Given the description of an element on the screen output the (x, y) to click on. 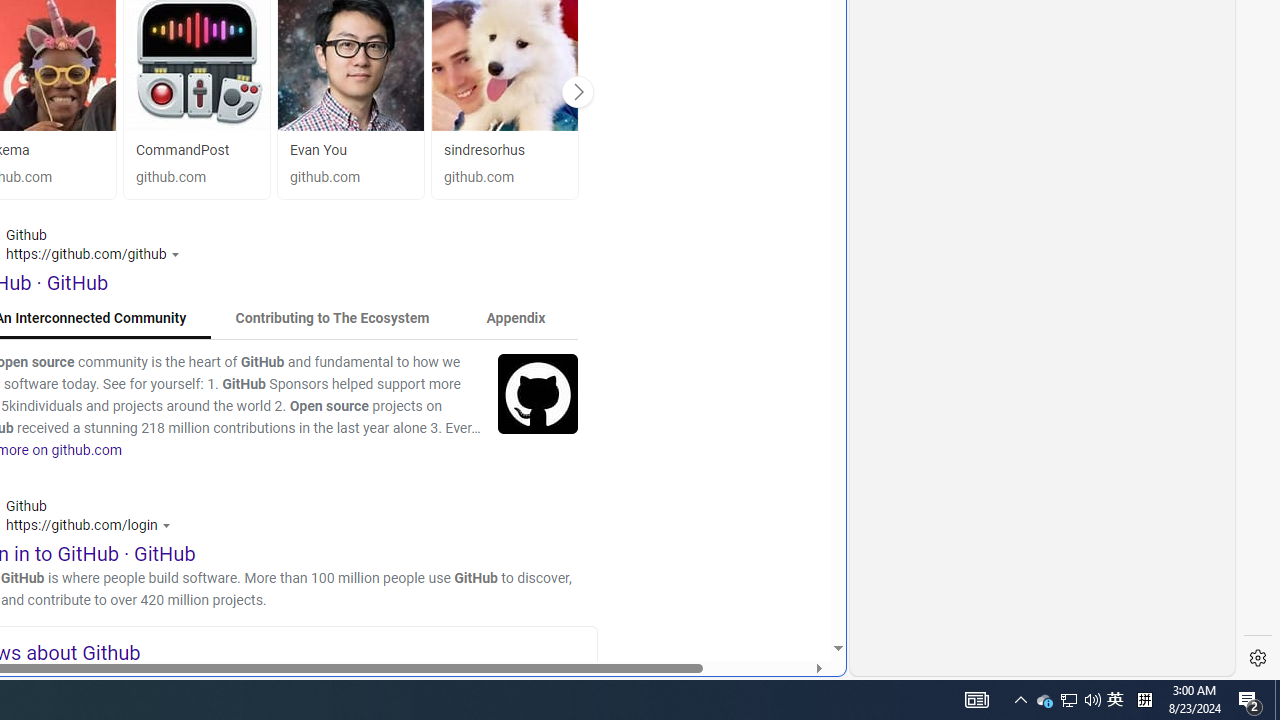
sindresorhus (504, 150)
CommandPost (196, 150)
Image (537, 393)
Search more (792, 588)
Contributing to The Ecosystem (332, 318)
Appendix (515, 318)
Evan You (351, 150)
Image (537, 393)
Actions for this site (168, 524)
CommandPost (182, 150)
Click to scroll right (577, 91)
sindresorhus (484, 150)
AutomationID: mfa_root (762, 588)
